Given the description of an element on the screen output the (x, y) to click on. 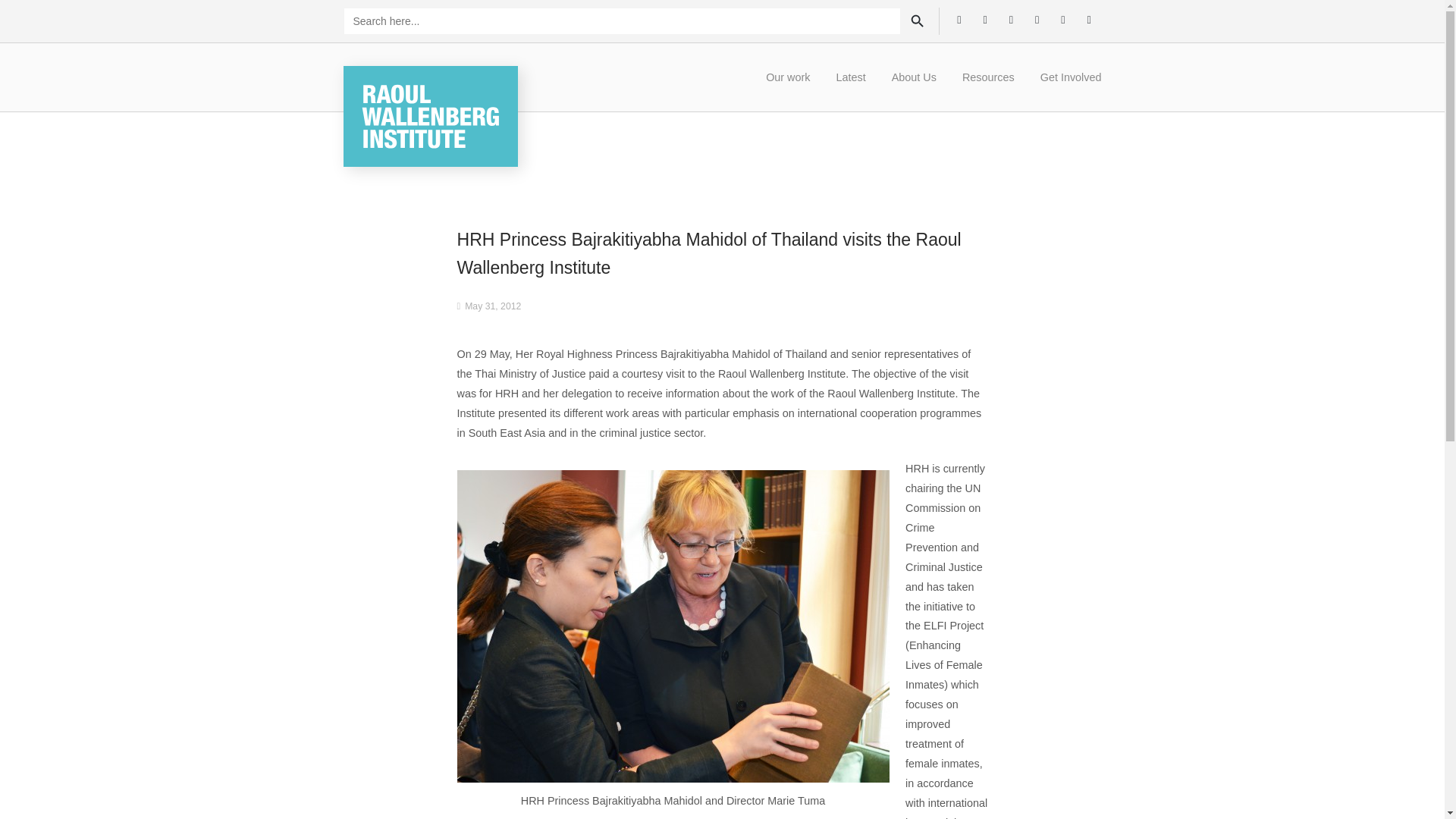
Our work (787, 77)
Latest (851, 77)
Newsletter (1062, 19)
About Us (913, 77)
Soundcloud (1089, 19)
SEARCH BUTTON (917, 21)
Home (429, 114)
